Given the description of an element on the screen output the (x, y) to click on. 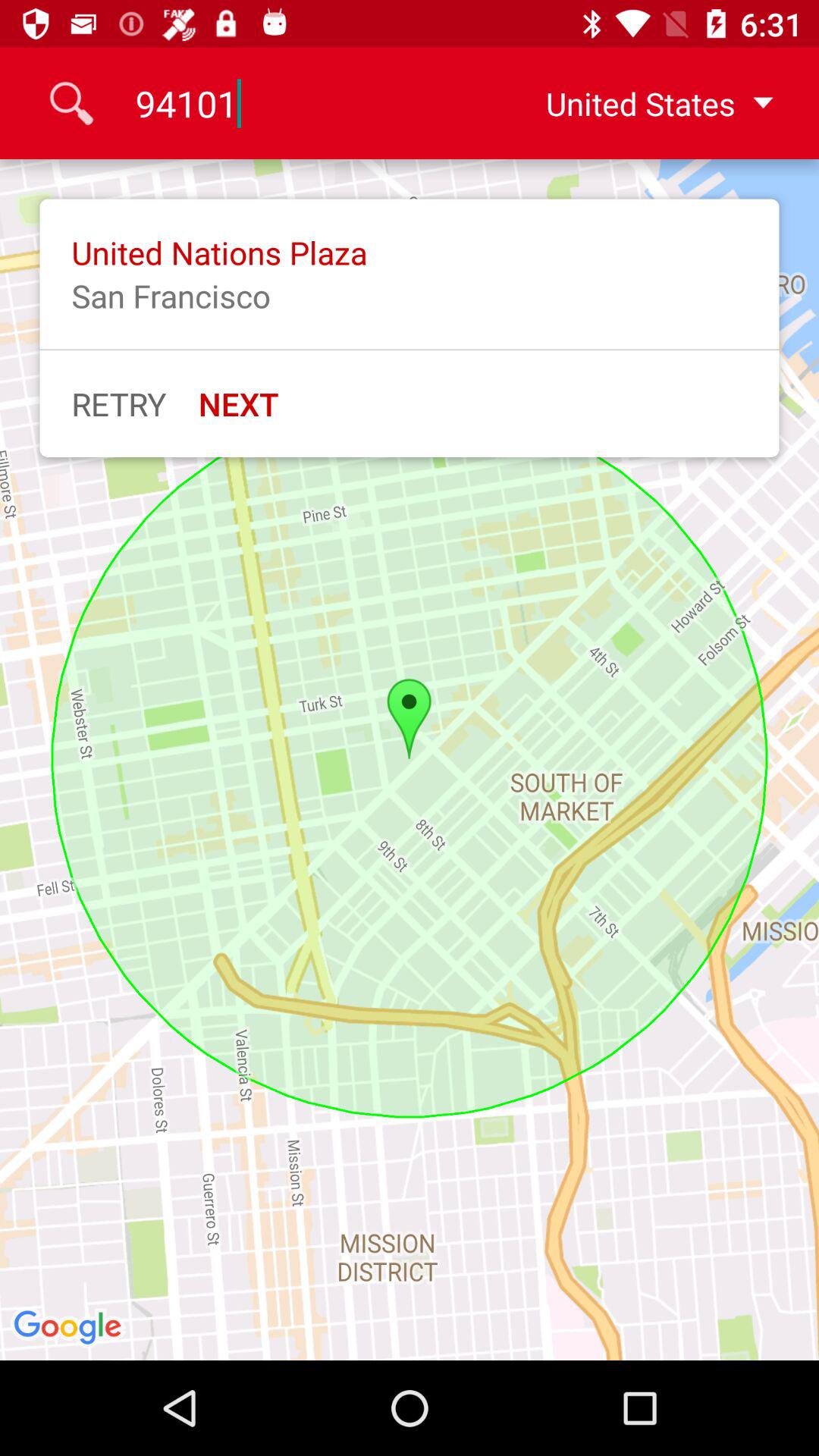
turn off retry icon (118, 403)
